Given the description of an element on the screen output the (x, y) to click on. 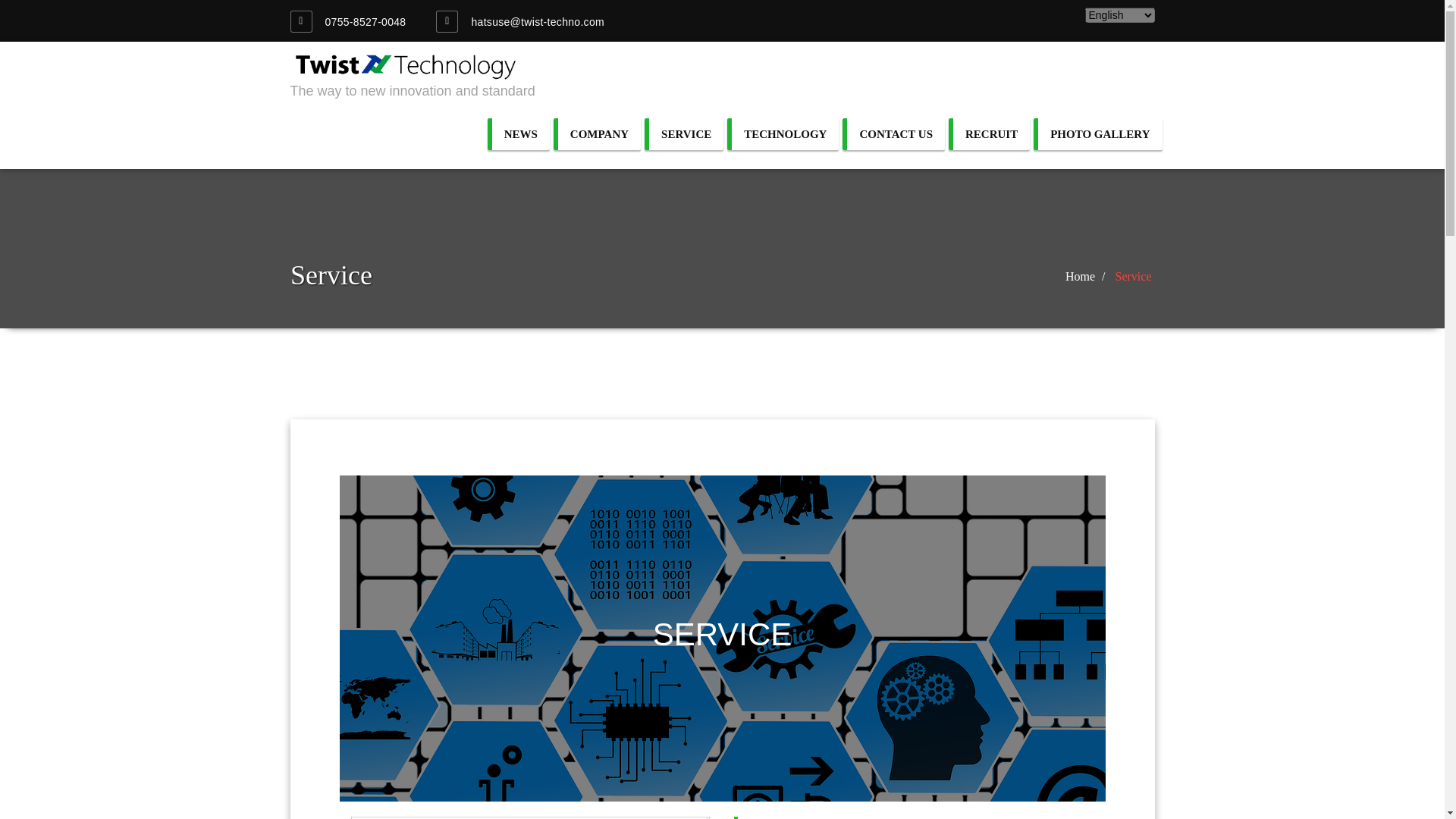
CONTACT US (893, 133)
RECRUIT (989, 133)
PHOTO GALLERY (1097, 133)
NEWS (518, 133)
COMPANY (596, 133)
Home (1376, 276)
SERVICE (684, 133)
TECHNOLOGY (782, 133)
Service (1421, 276)
